Given the description of an element on the screen output the (x, y) to click on. 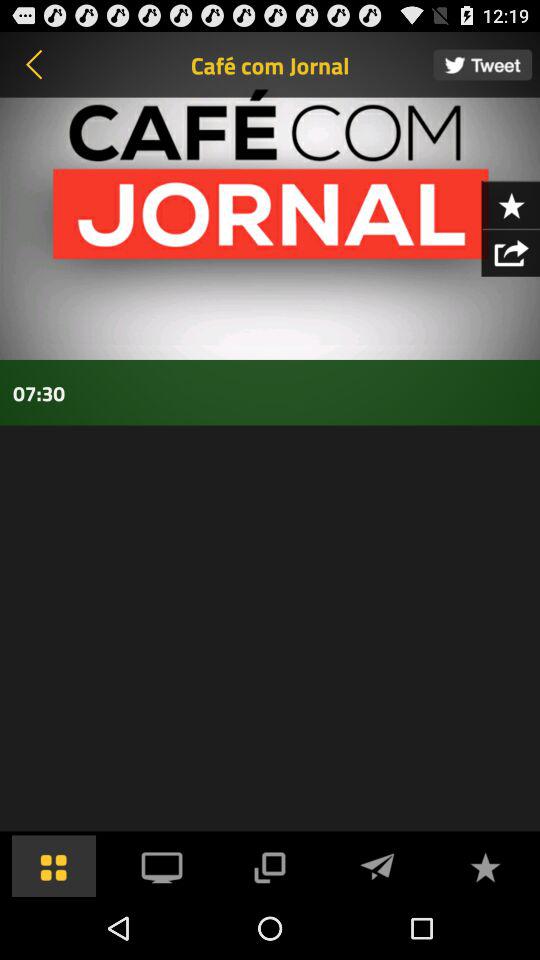
favourite this page (510, 204)
